Given the description of an element on the screen output the (x, y) to click on. 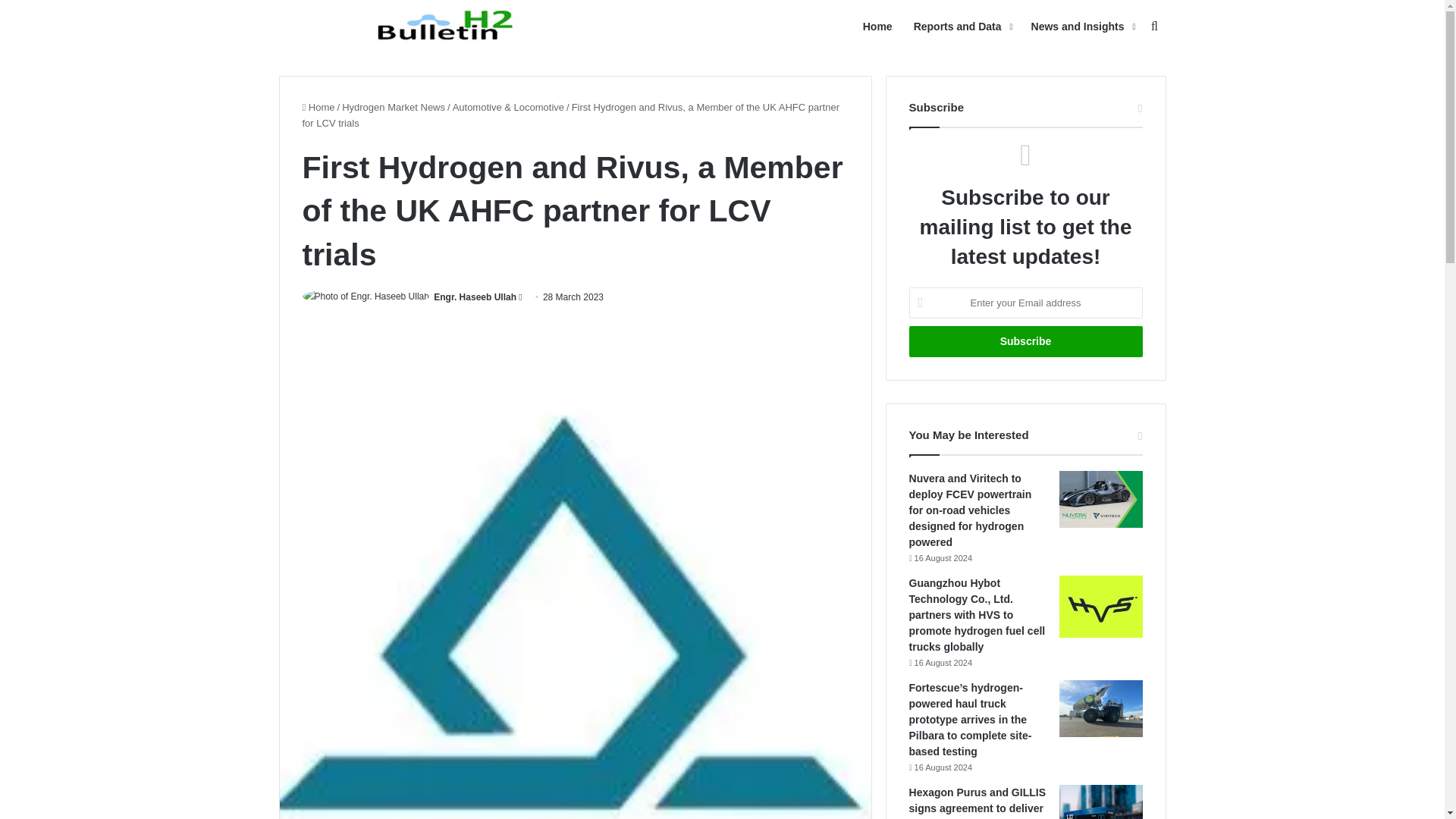
Subscribe (1025, 341)
Home (317, 107)
Reports and Data (961, 26)
Subscribe (1025, 341)
H2 Bulletin (449, 26)
Engr. Haseeb Ullah (474, 296)
Home (876, 26)
Engr. Haseeb Ullah (474, 296)
News and Insights (1081, 26)
